Given the description of an element on the screen output the (x, y) to click on. 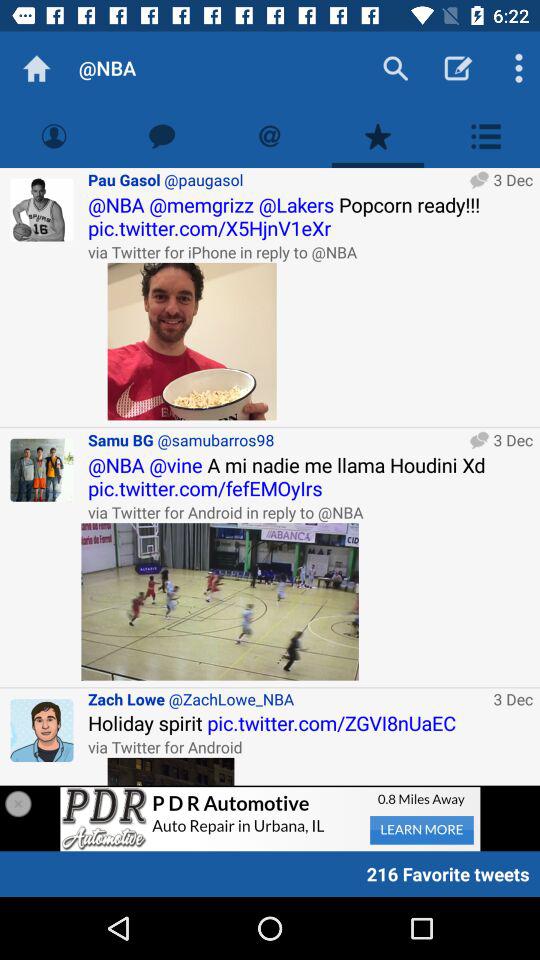
tap the app below the @nba item (162, 136)
